Given the description of an element on the screen output the (x, y) to click on. 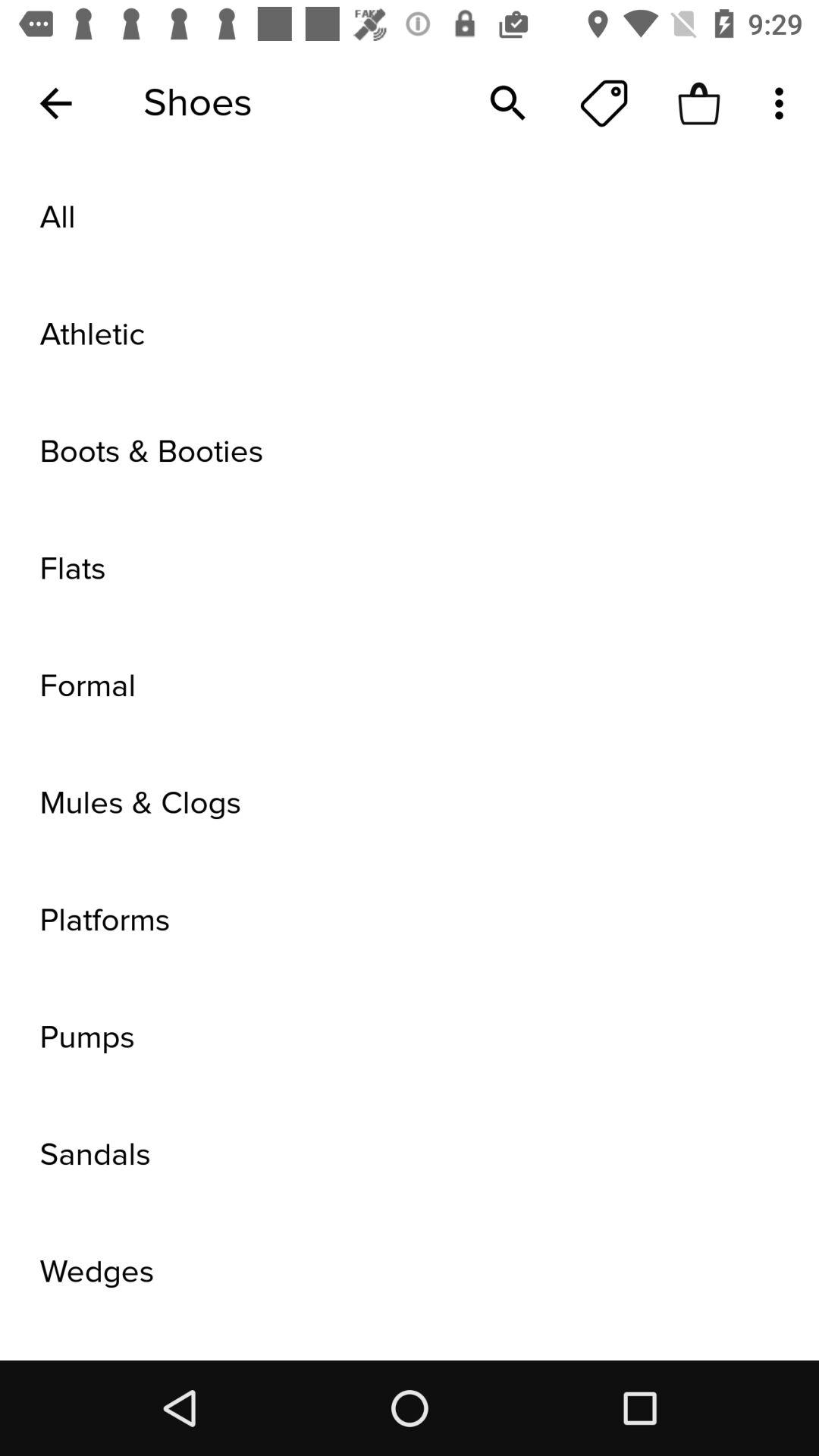
tap all icon (409, 217)
